Given the description of an element on the screen output the (x, y) to click on. 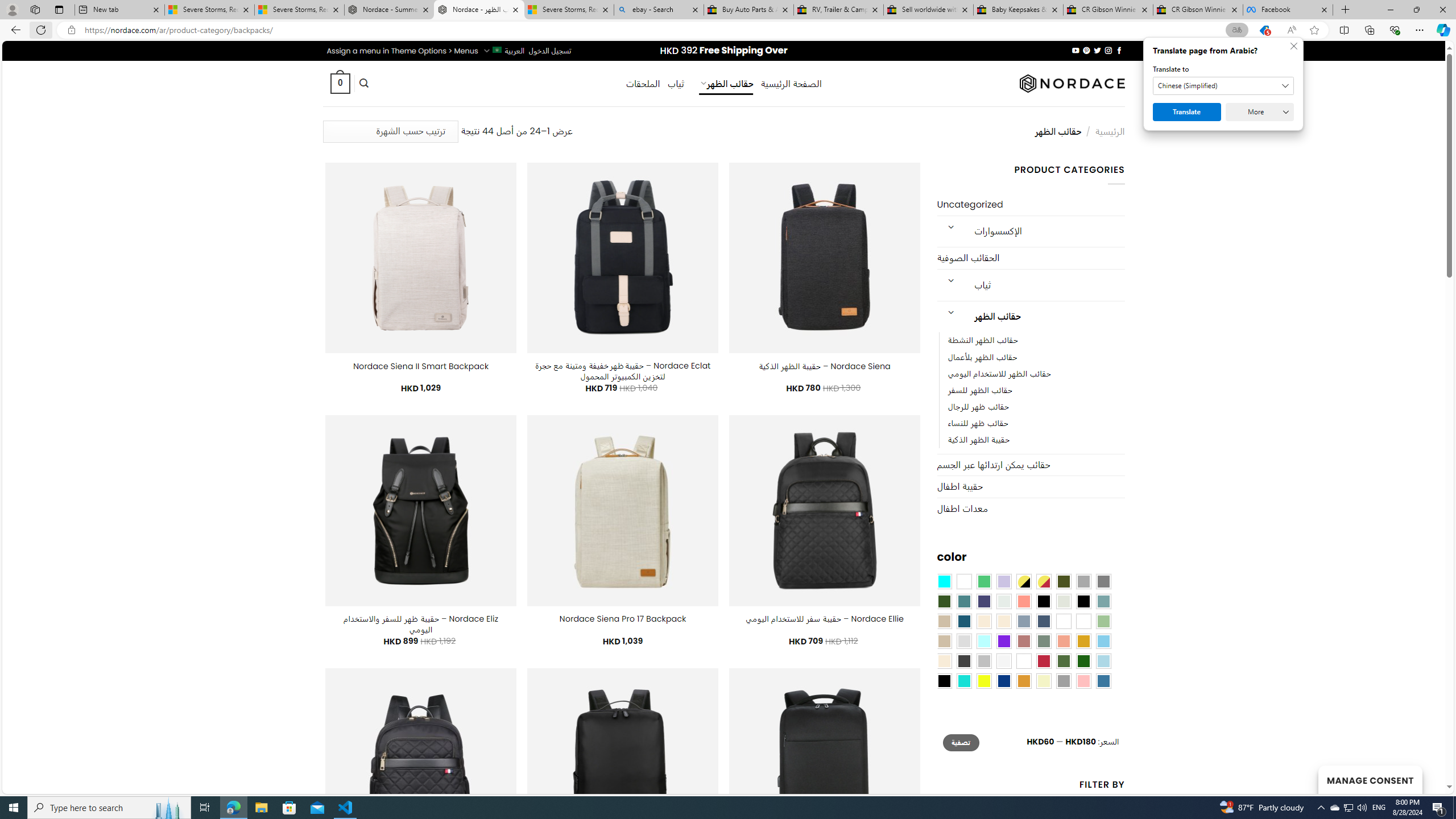
Nordace - Summer Adventures 2024 (389, 9)
Hale Navy (1043, 621)
App bar (728, 29)
Light-Gray (963, 640)
All Black (1043, 601)
